Given the description of an element on the screen output the (x, y) to click on. 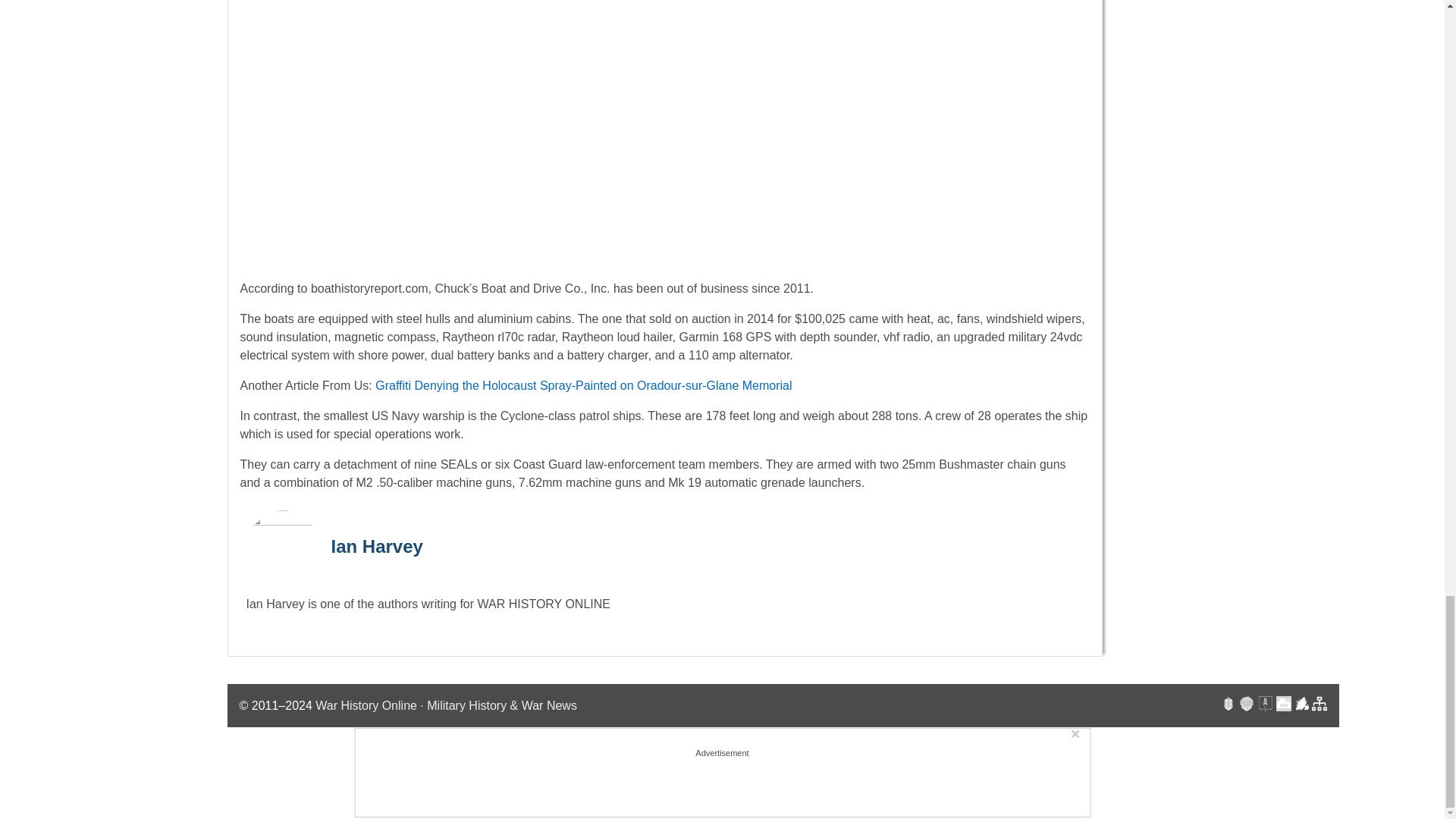
Little Boom Boat Display (664, 133)
